Given the description of an element on the screen output the (x, y) to click on. 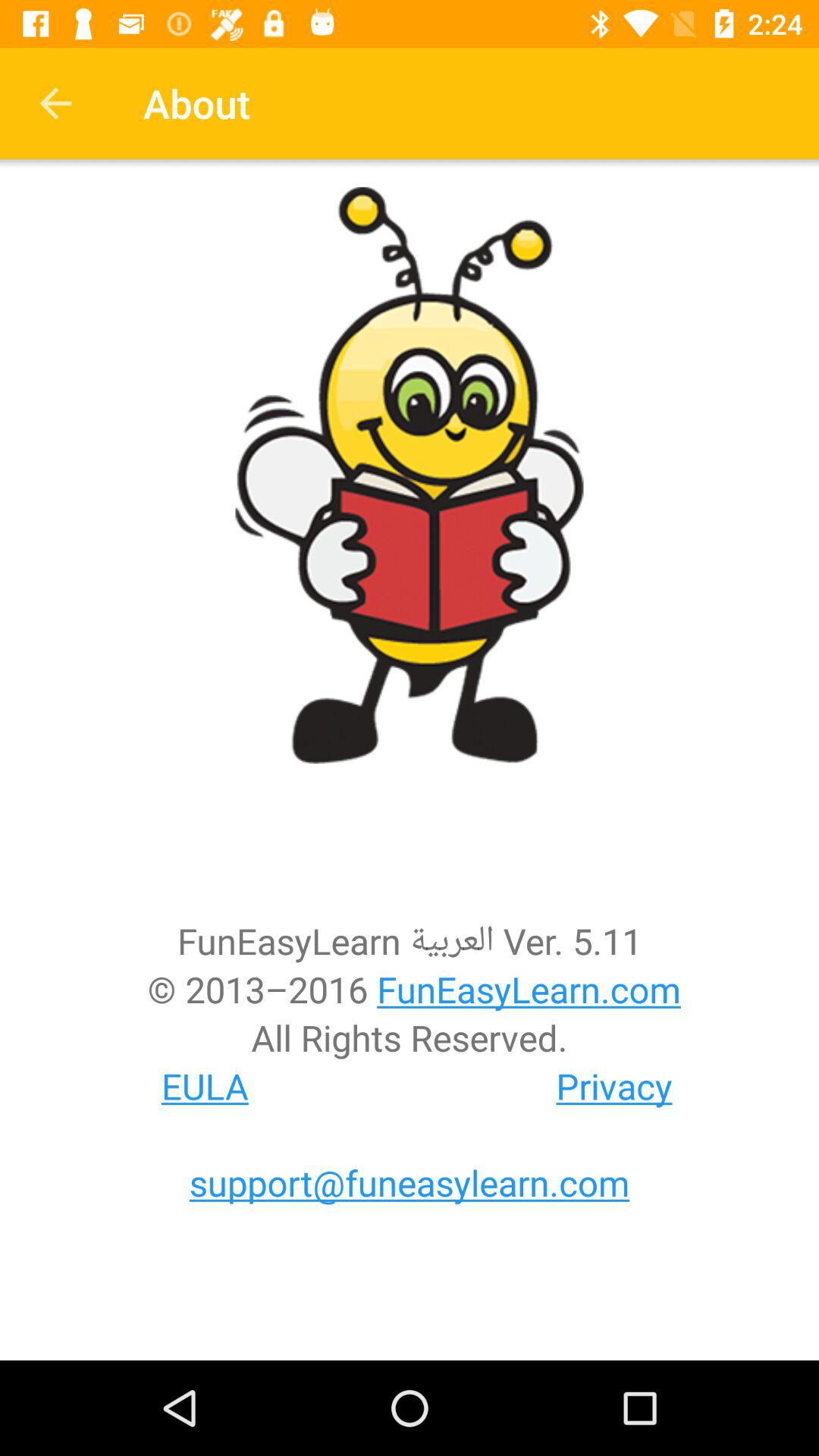
choose icon to the left of the privacy (204, 1085)
